Given the description of an element on the screen output the (x, y) to click on. 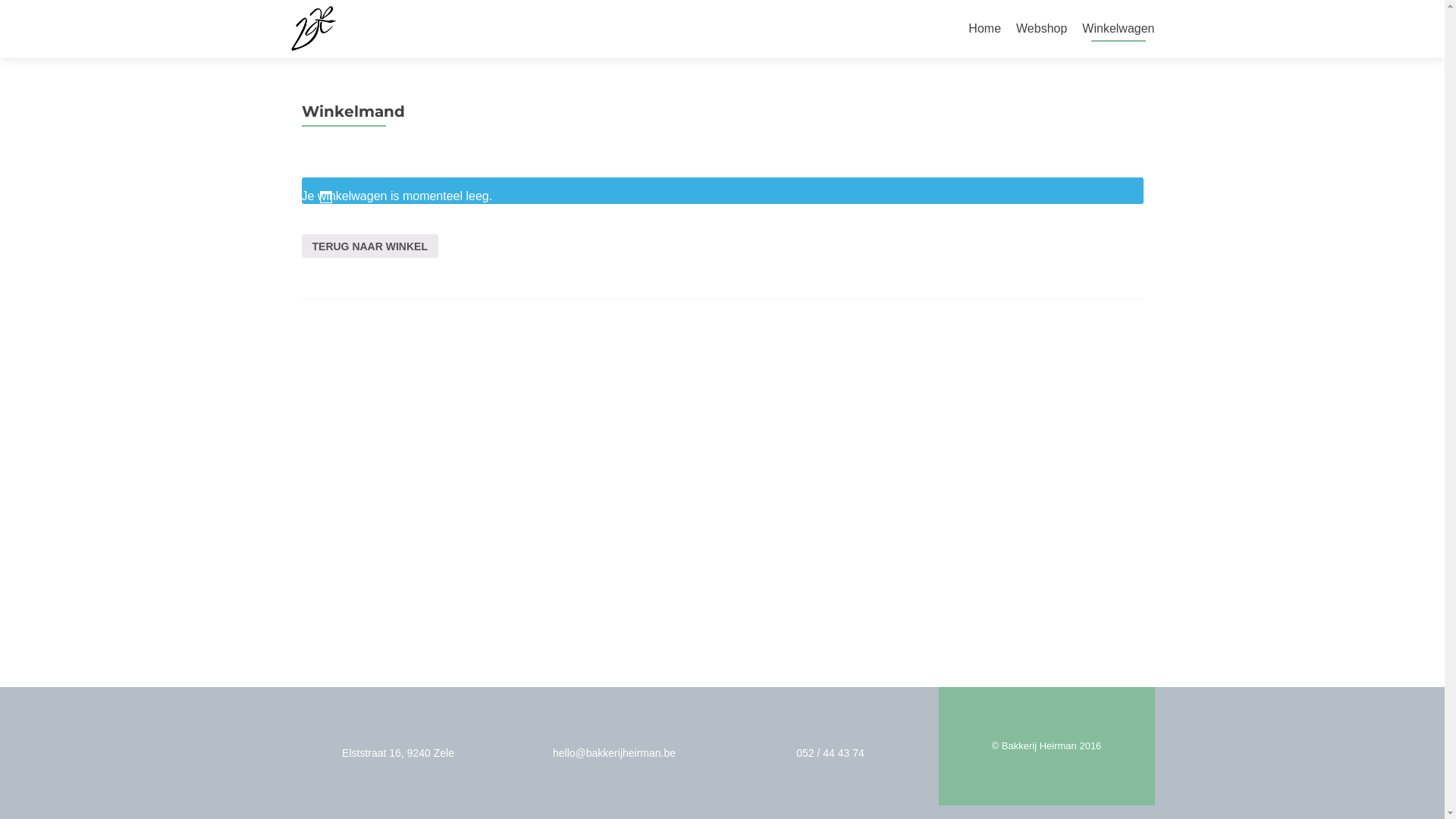
052 / 44 43 74 Element type: text (830, 752)
Webshop Element type: text (1041, 28)
TERUG NAAR WINKEL Element type: text (369, 245)
Winkelwagen Element type: text (1118, 28)
Home Element type: text (984, 28)
hello@bakkerijheirman.be Element type: text (613, 752)
Elststraat 16, 9240 Zele Element type: text (398, 752)
